Given the description of an element on the screen output the (x, y) to click on. 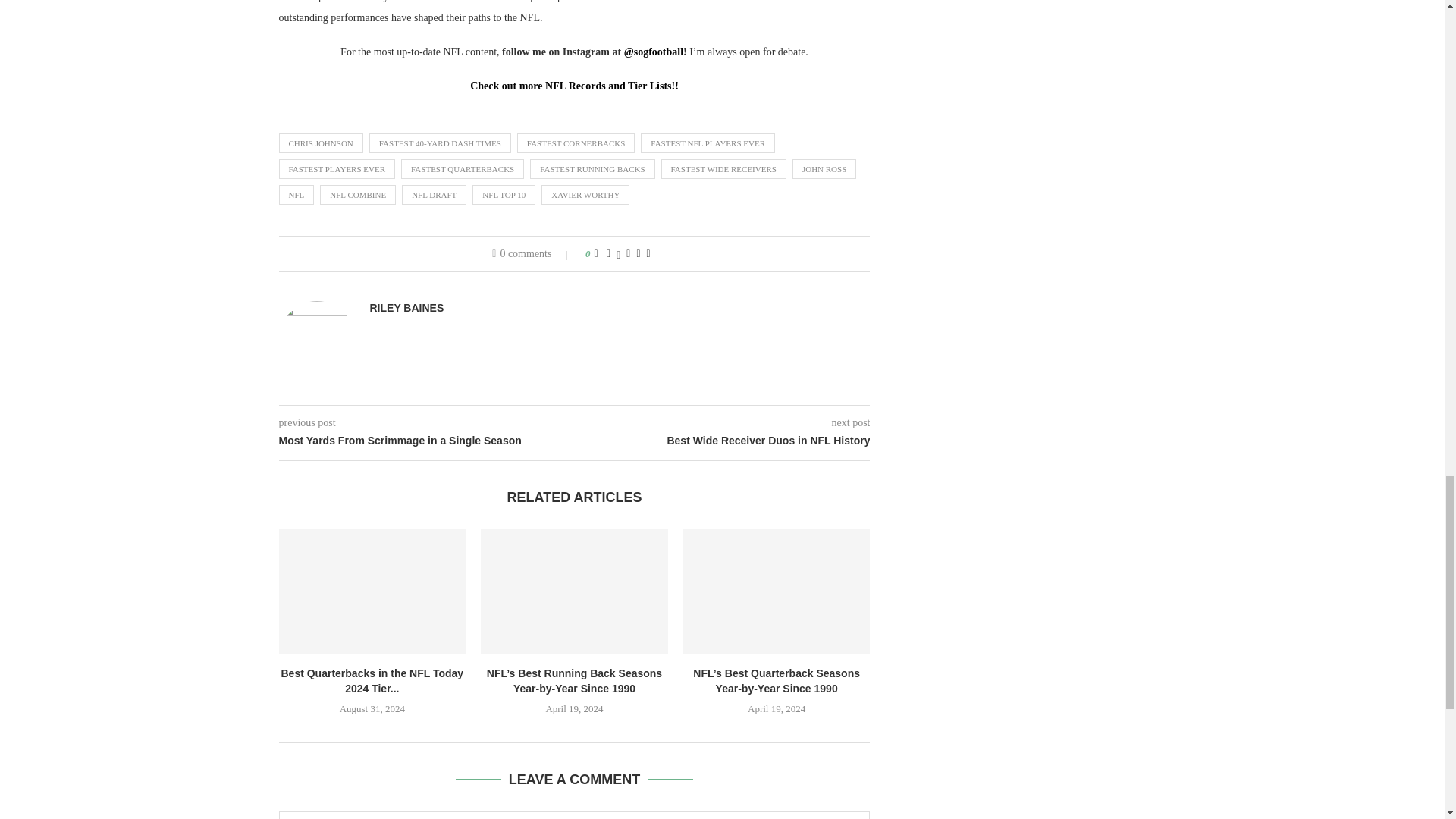
Check out more NFL Records and Tier Lists!! (574, 85)
FASTEST RUNNING BACKS (591, 168)
FASTEST 40-YARD DASH TIMES (440, 143)
FASTEST NFL PLAYERS EVER (707, 143)
FASTEST CORNERBACKS (575, 143)
Author Riley Baines (406, 308)
CHRIS JOHNSON (320, 143)
XAVIER WORTHY (584, 194)
NFL COMBINE (358, 194)
NFL DRAFT (433, 194)
